Given the description of an element on the screen output the (x, y) to click on. 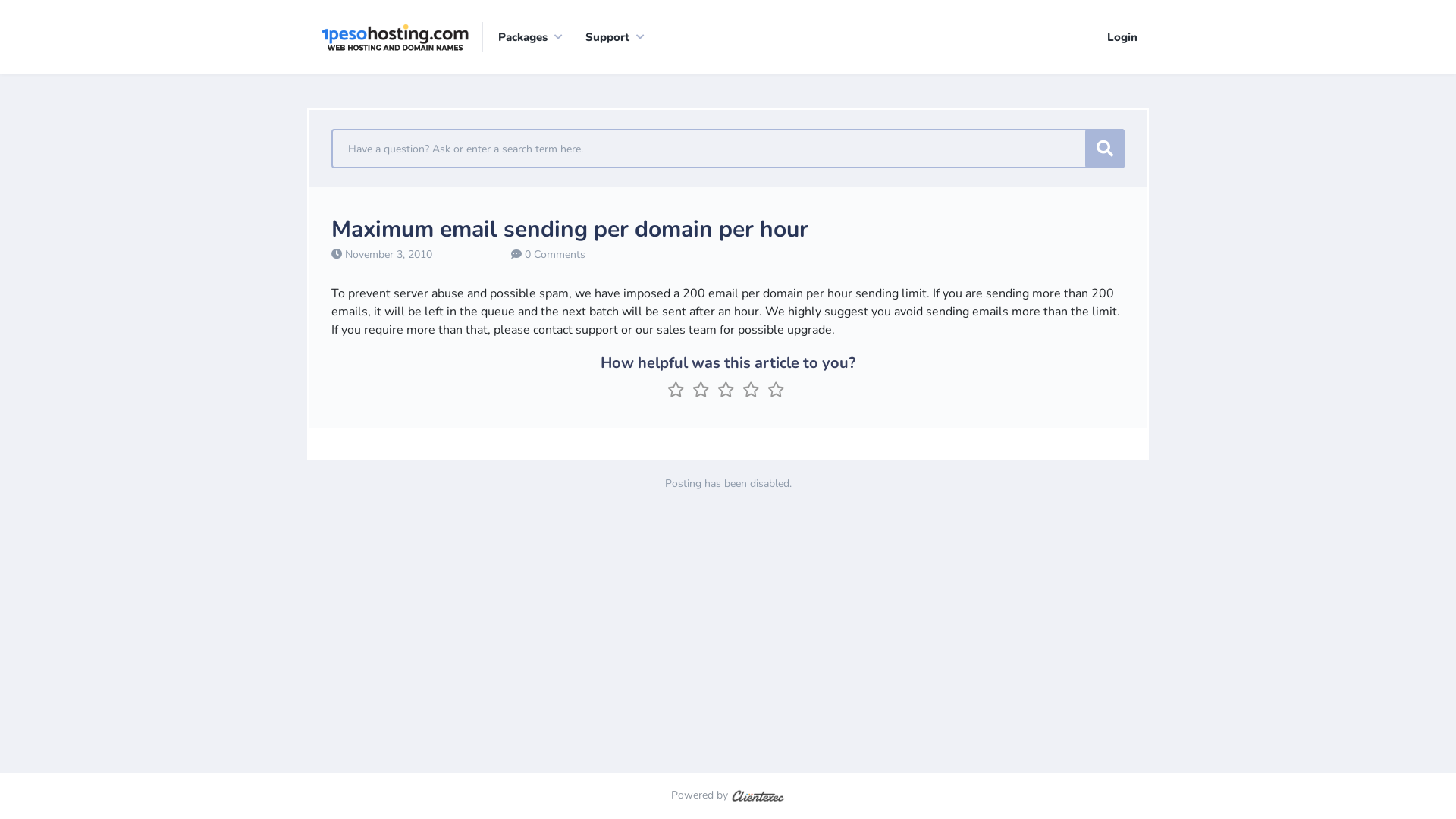
Login Element type: text (1122, 36)
Packages Element type: text (526, 36)
Support Element type: text (611, 36)
